Given the description of an element on the screen output the (x, y) to click on. 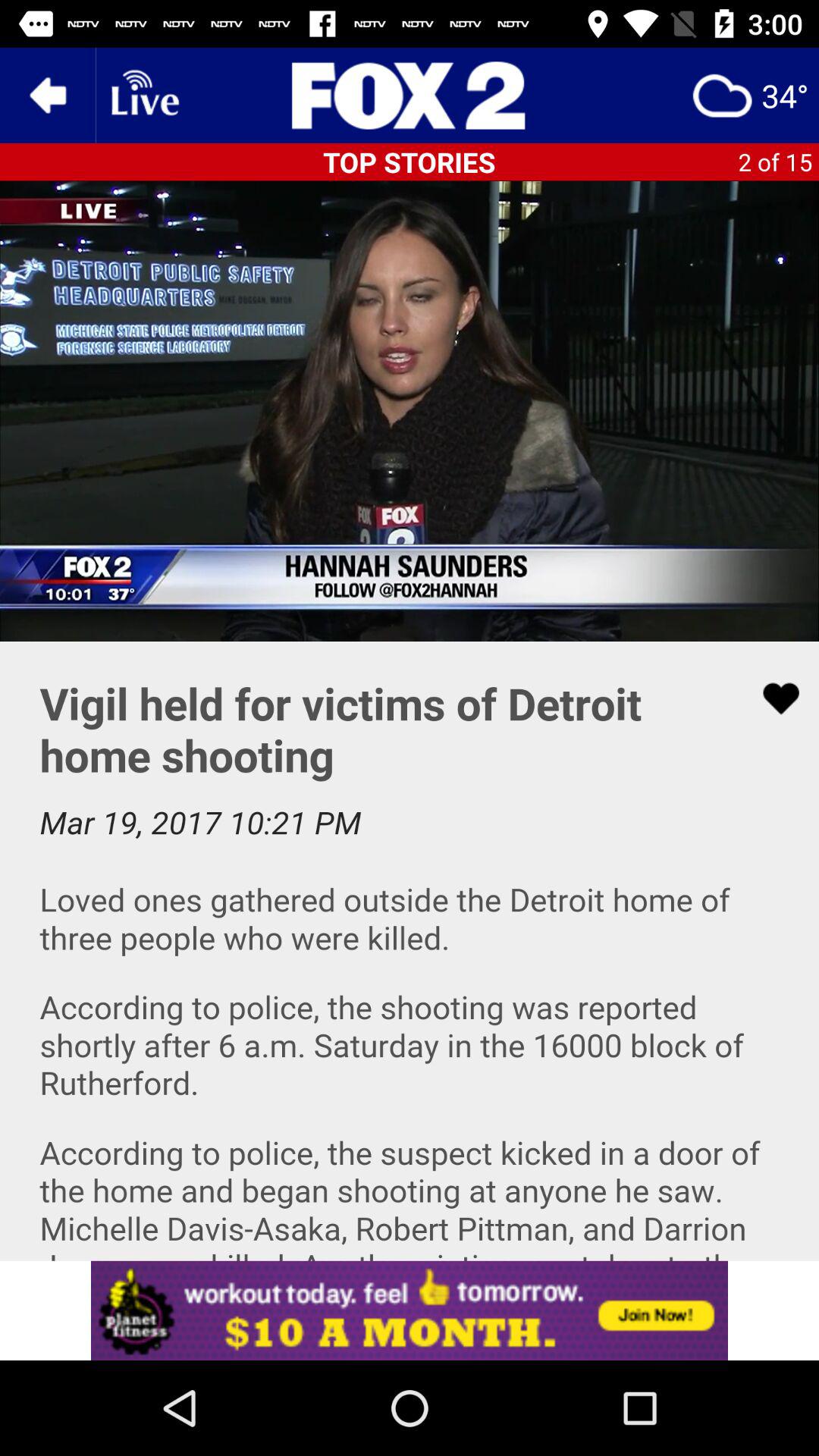
go back (47, 95)
